Given the description of an element on the screen output the (x, y) to click on. 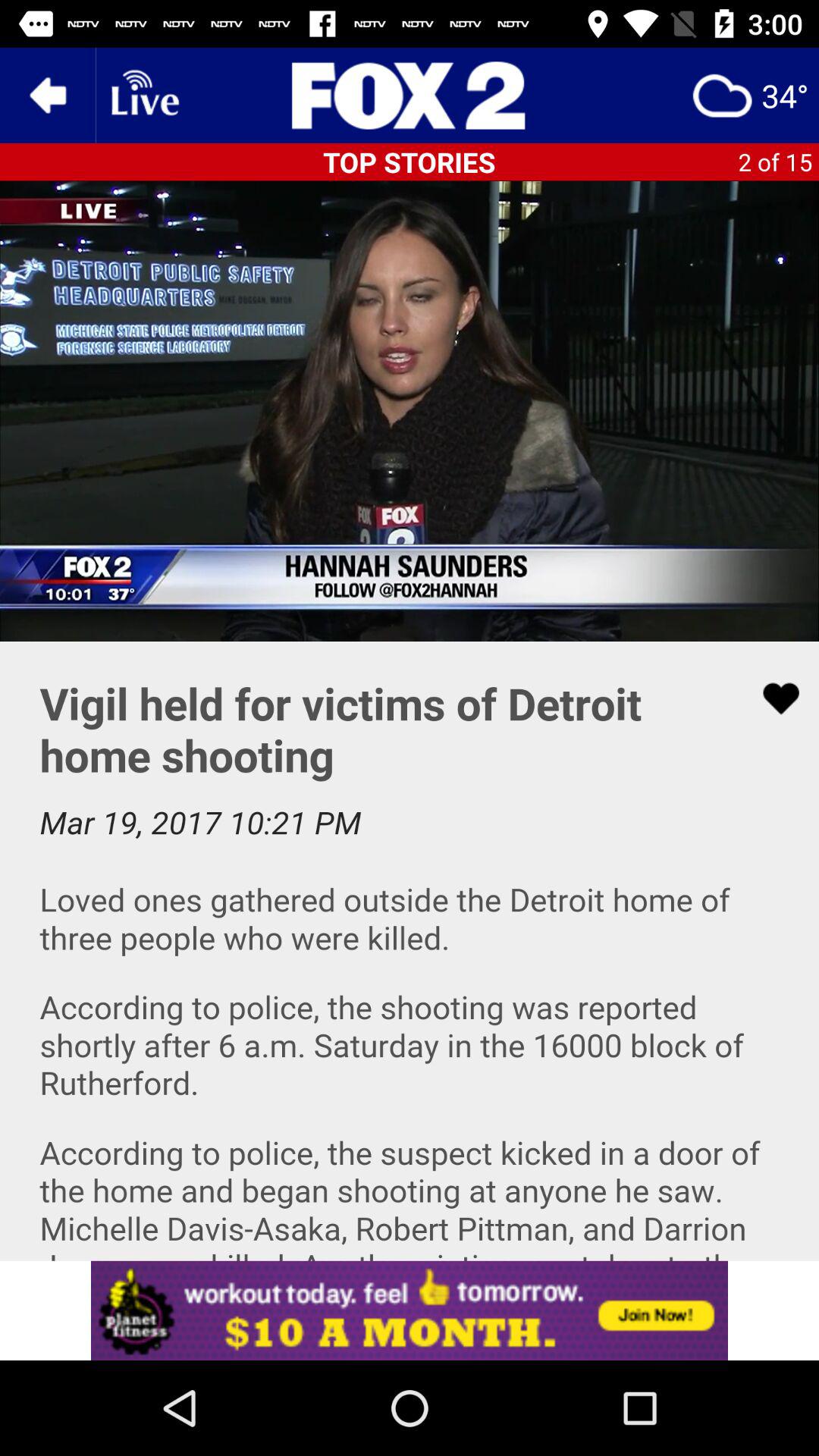
go back (47, 95)
